Given the description of an element on the screen output the (x, y) to click on. 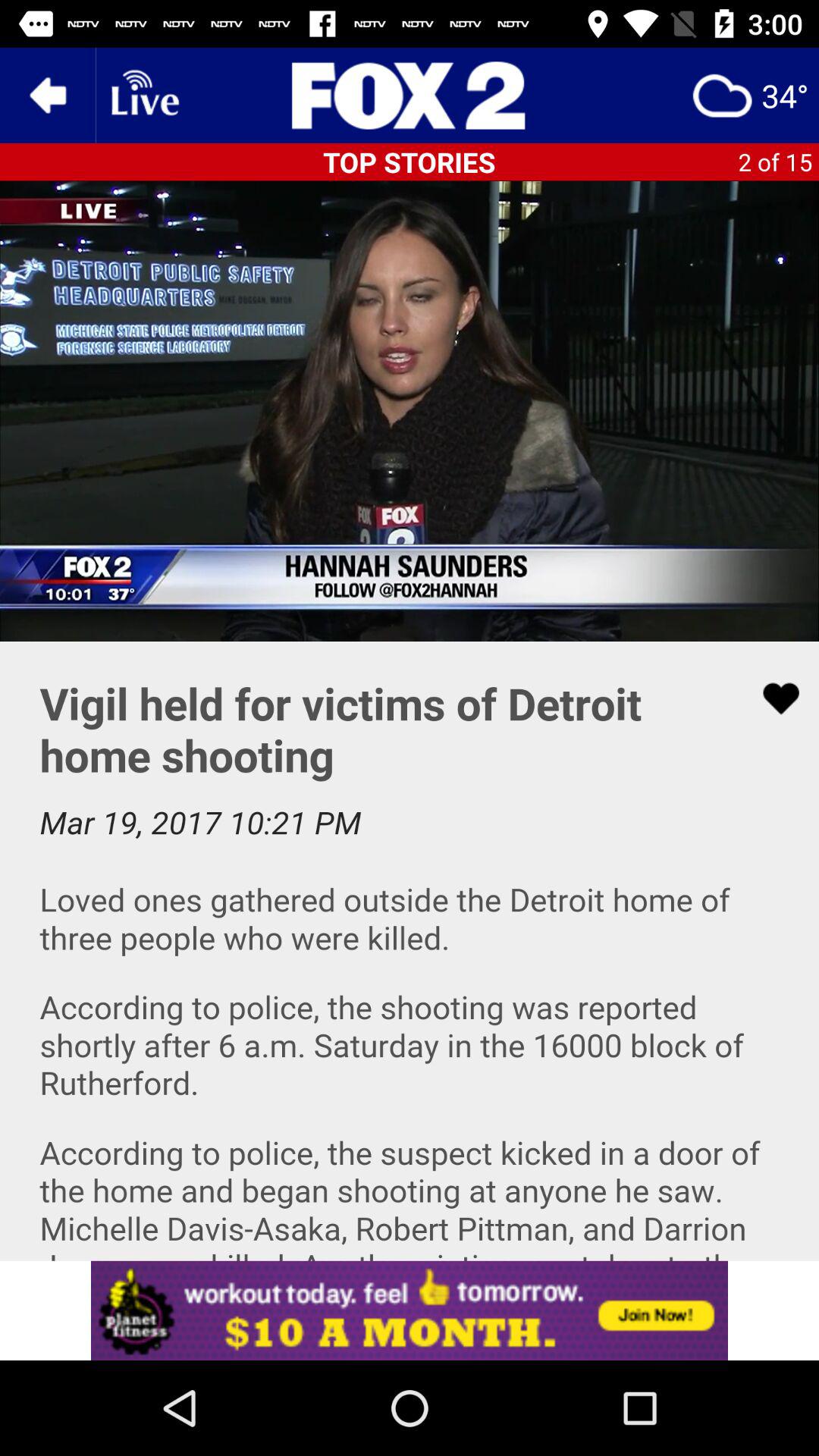
go back (47, 95)
